Given the description of an element on the screen output the (x, y) to click on. 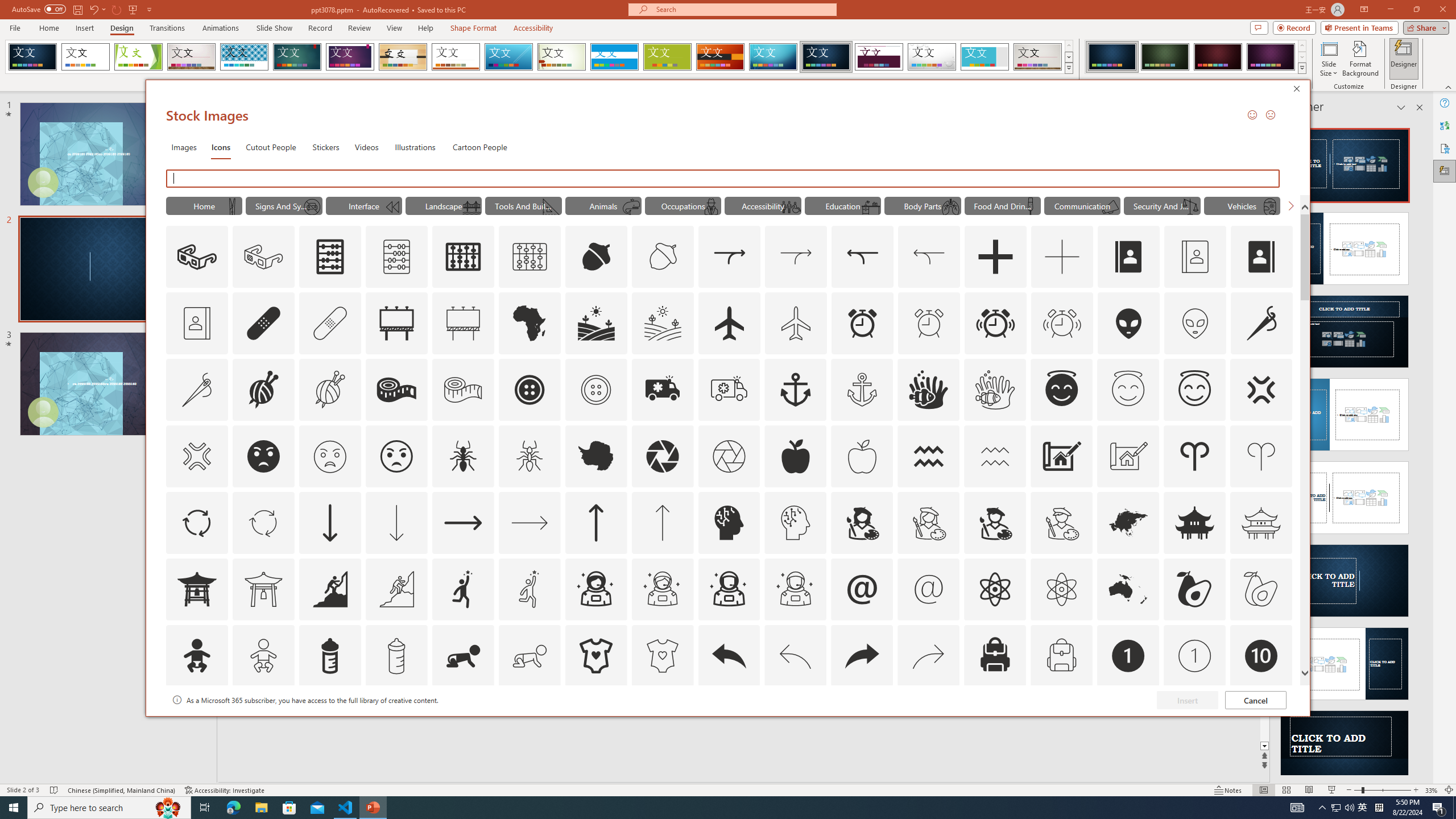
AutomationID: Icons_Back_RTL_M (928, 655)
